Given the description of an element on the screen output the (x, y) to click on. 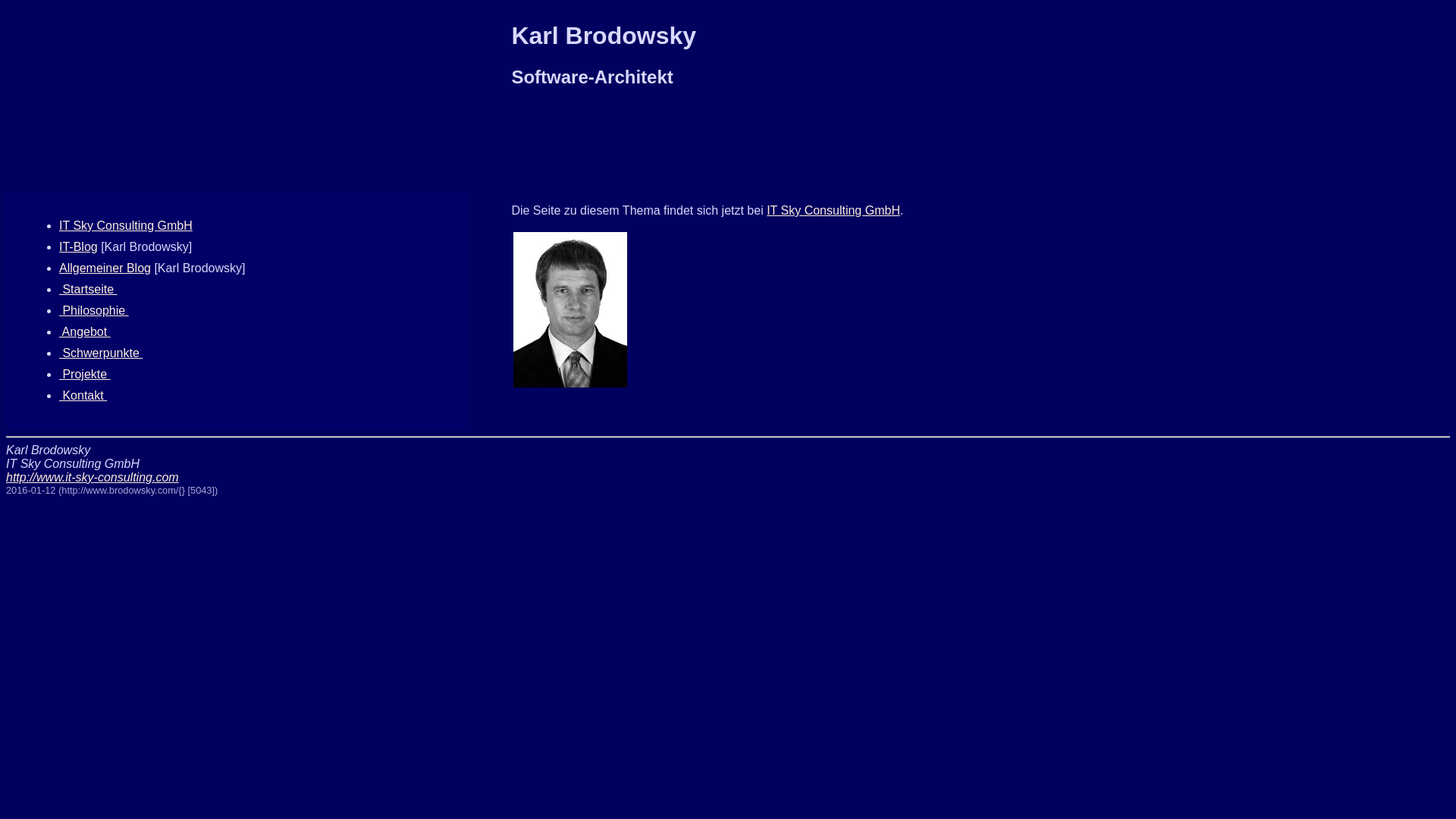
 Schwerpunkte  Element type: text (100, 352)
Allgemeiner Blog Element type: text (104, 267)
IT Sky Consulting GmbH Element type: text (125, 225)
http://www.it-sky-consulting.com Element type: text (92, 476)
 Projekte  Element type: text (84, 373)
 Kontakt  Element type: text (82, 395)
IT-Blog Element type: text (78, 246)
 Philosophie  Element type: text (93, 310)
 Startseite  Element type: text (87, 288)
 Angebot  Element type: text (84, 331)
IT Sky Consulting GmbH Element type: text (833, 209)
